Given the description of an element on the screen output the (x, y) to click on. 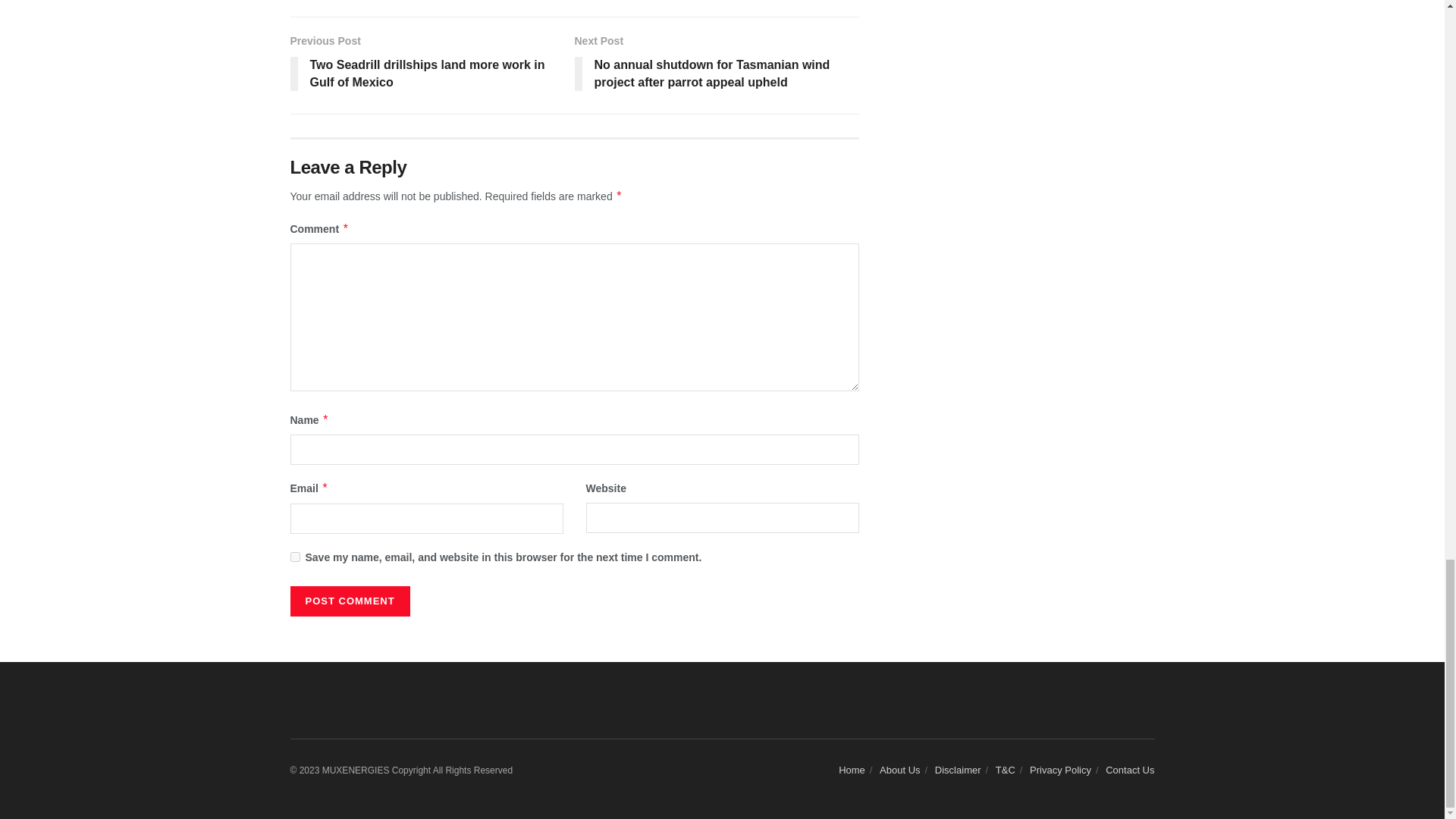
yes (294, 556)
Post Comment (349, 601)
